Given the description of an element on the screen output the (x, y) to click on. 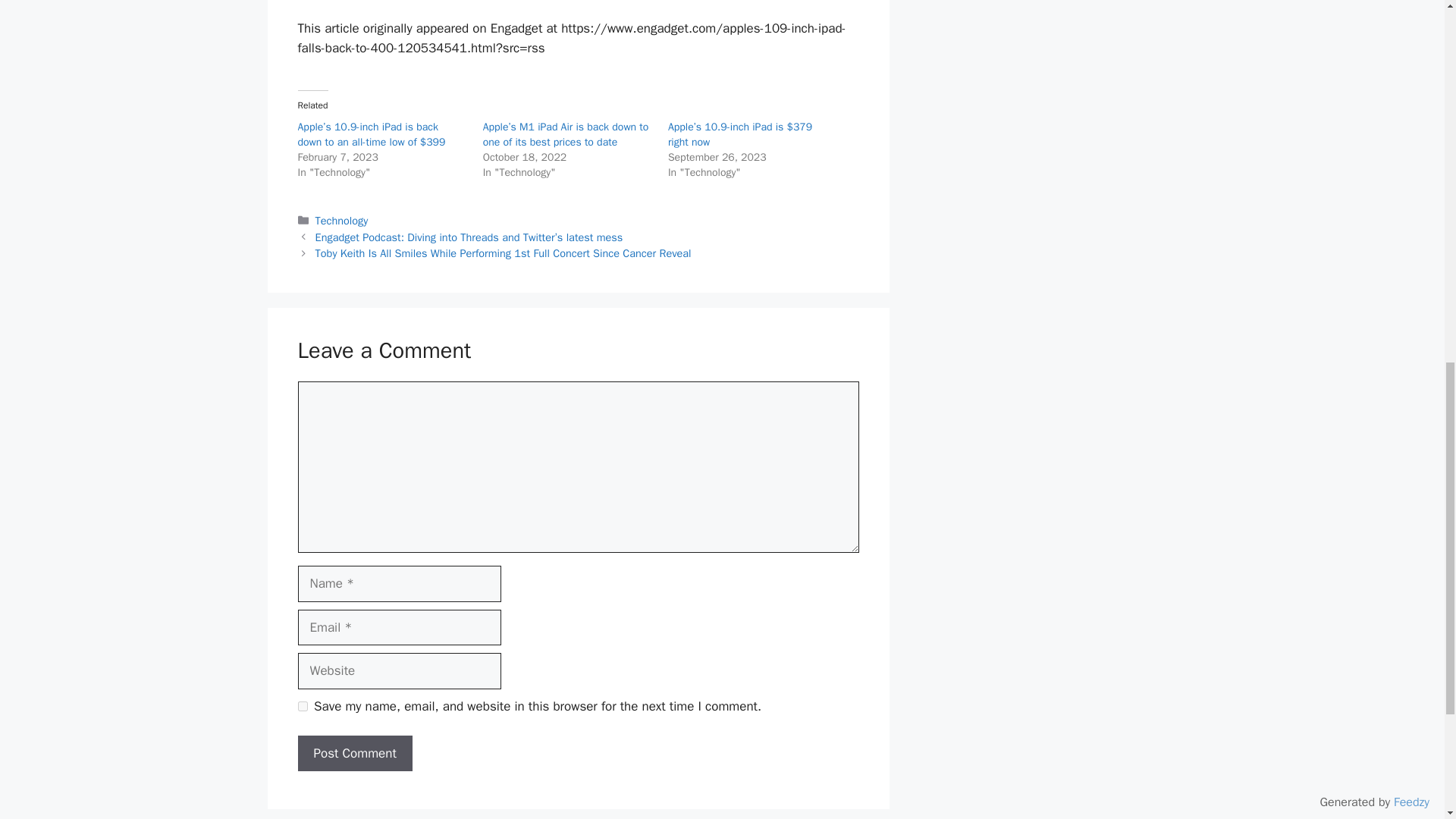
yes (302, 706)
Post Comment (354, 753)
Scroll back to top (1406, 720)
Technology (341, 220)
Post Comment (354, 753)
